Given the description of an element on the screen output the (x, y) to click on. 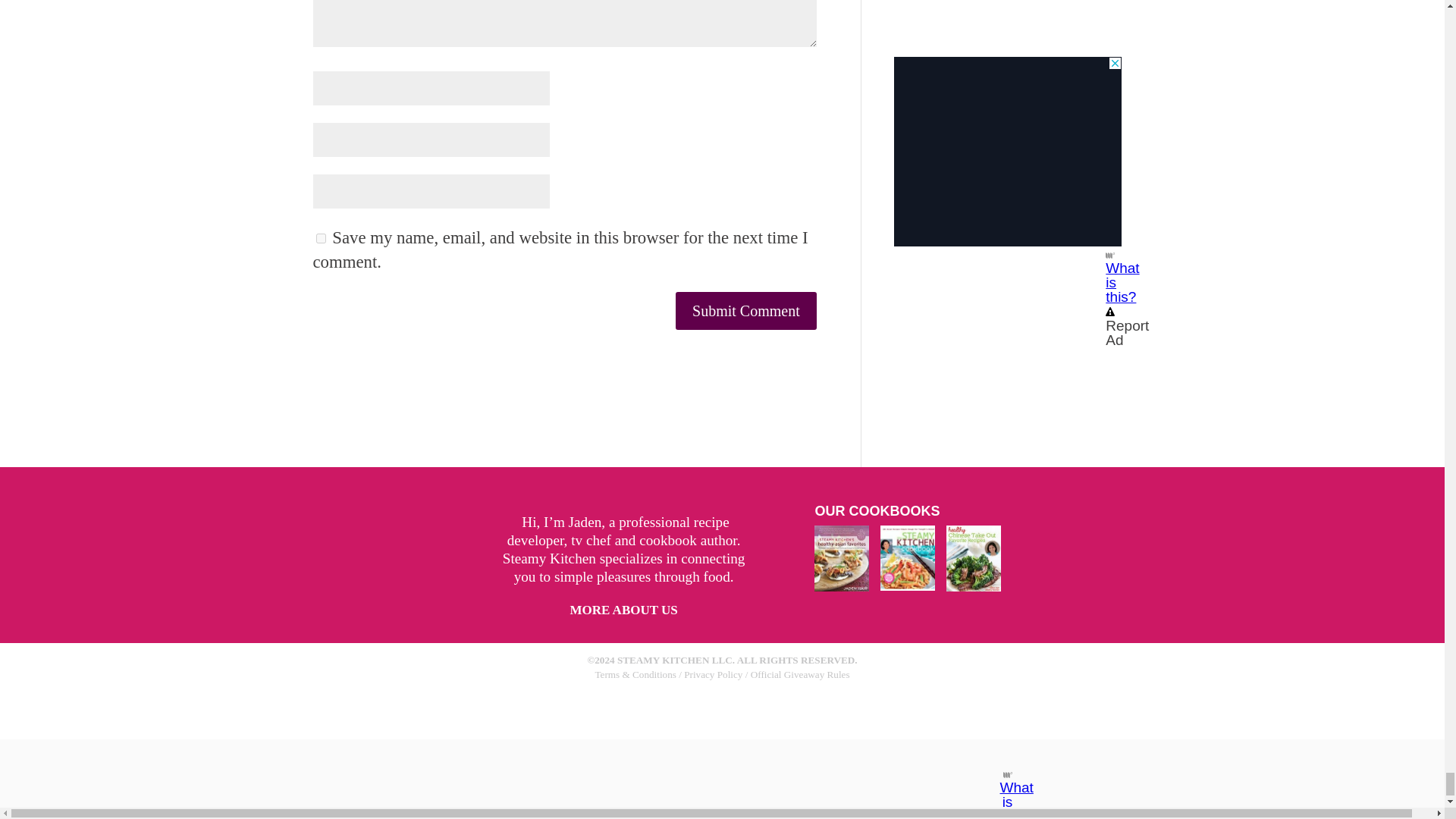
Submit Comment (745, 310)
Jaden-Home-Page-sqx200 (422, 553)
yes (319, 238)
